Given the description of an element on the screen output the (x, y) to click on. 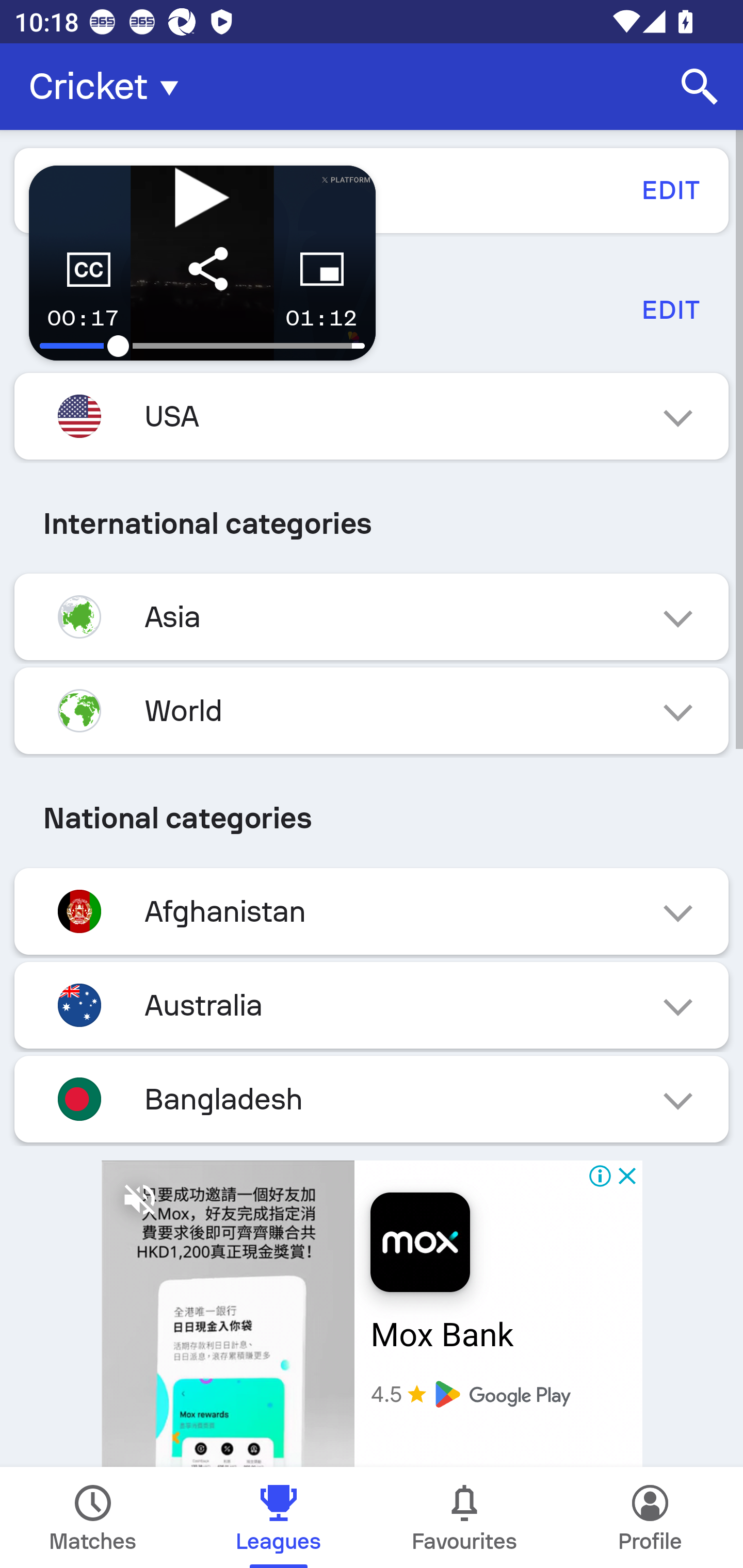
Cricket (109, 86)
Search (699, 86)
EDIT (670, 190)
EDIT (670, 309)
USA (371, 416)
International categories (371, 523)
Asia (371, 616)
World (371, 710)
National categories (371, 817)
Afghanistan (371, 911)
Australia (371, 1004)
Bangladesh (371, 1099)
Mox Bank 4.5 Install Install (371, 1306)
Matches (92, 1517)
Favourites (464, 1517)
Profile (650, 1517)
